Given the description of an element on the screen output the (x, y) to click on. 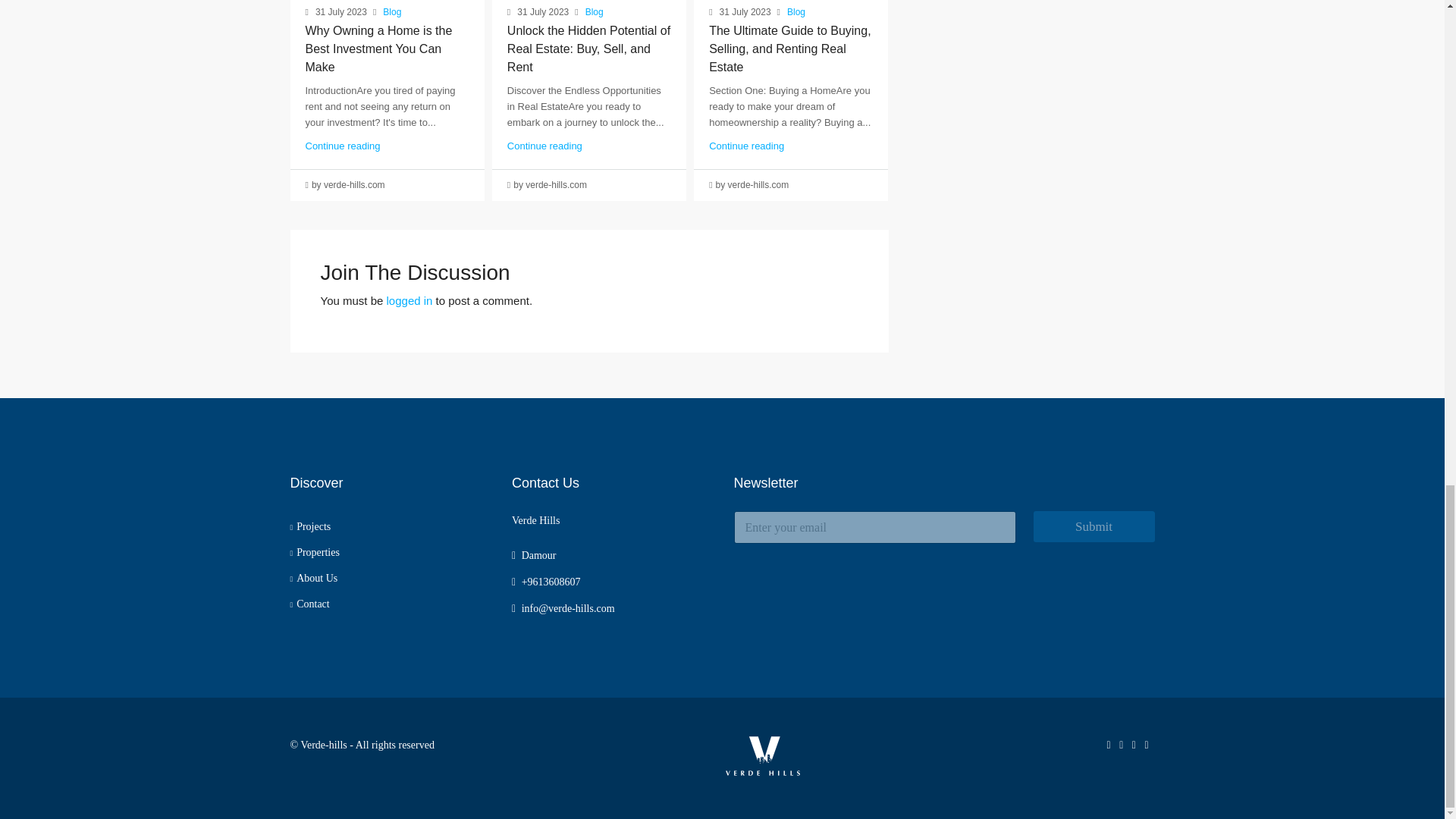
Properties (314, 552)
Continue reading (746, 145)
Projects (309, 526)
Blog (796, 12)
logged in (409, 300)
Continue reading (544, 145)
Submit (1093, 526)
Why Owning a Home is the Best Investment You Can Make (377, 48)
About Us (313, 577)
Contact (309, 603)
Blog (391, 12)
Blog (594, 12)
Continue reading (342, 145)
